Given the description of an element on the screen output the (x, y) to click on. 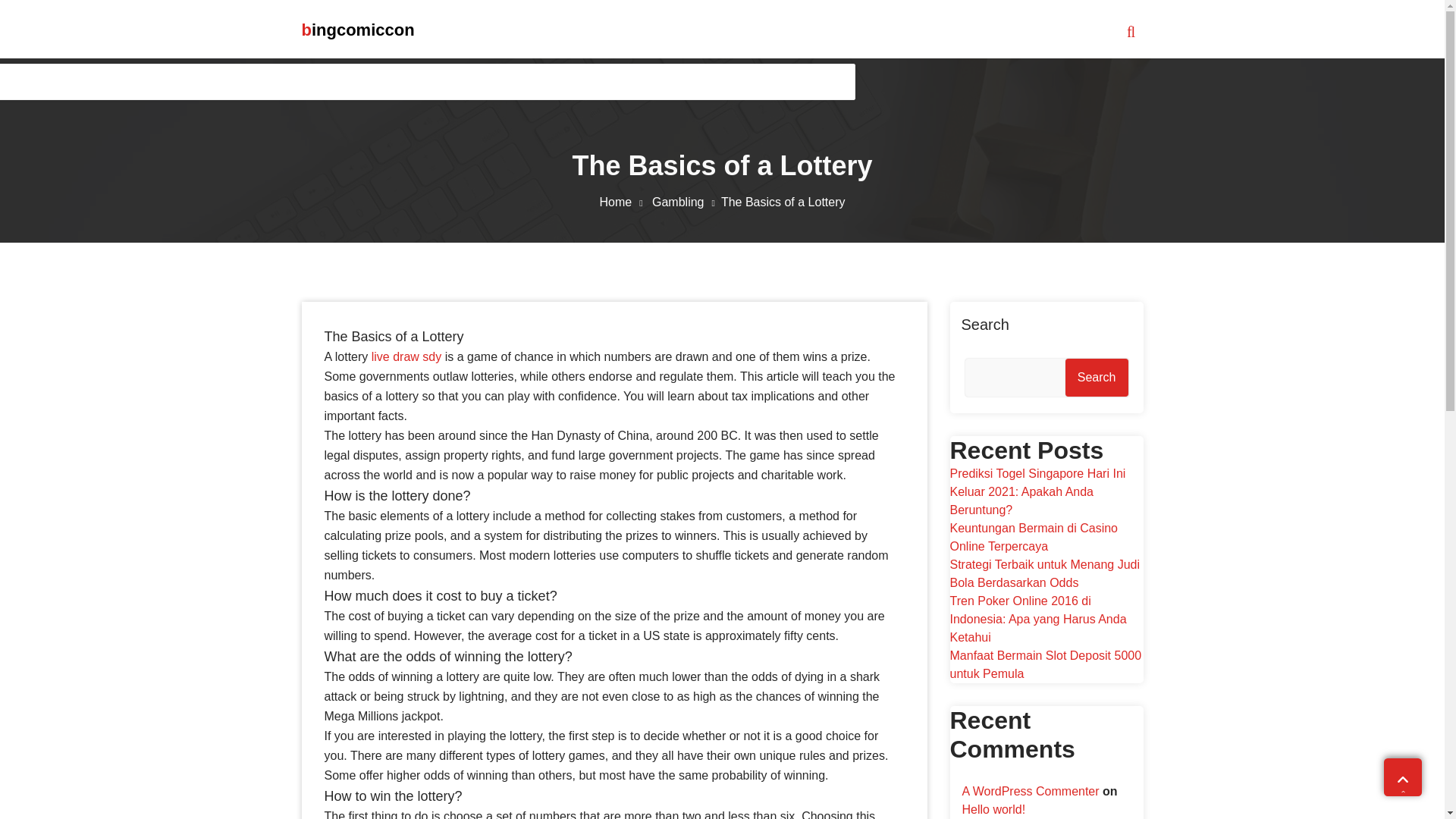
Manfaat Bermain Slot Deposit 5000 untuk Pemula (1045, 664)
A WordPress Commenter (1029, 790)
Strategi Terbaik untuk Menang Judi Bola Berdasarkan Odds (1044, 572)
live draw sdy (406, 356)
Keuntungan Bermain di Casino Online Terpercaya (1032, 536)
bingcomiccon (357, 30)
Home (622, 201)
Hello world! (992, 809)
Search (1096, 377)
